Given the description of an element on the screen output the (x, y) to click on. 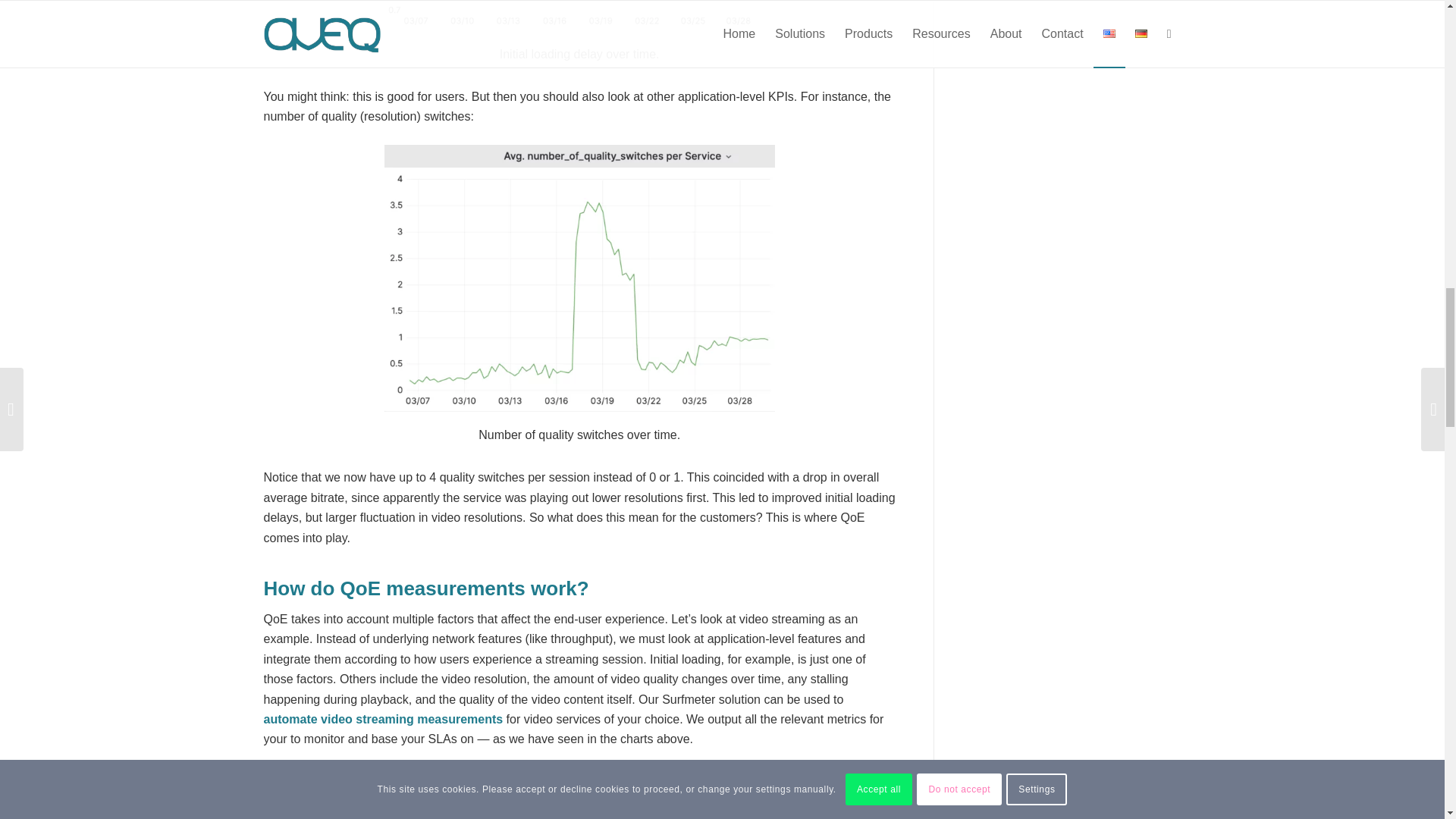
QoE models (642, 789)
